Given the description of an element on the screen output the (x, y) to click on. 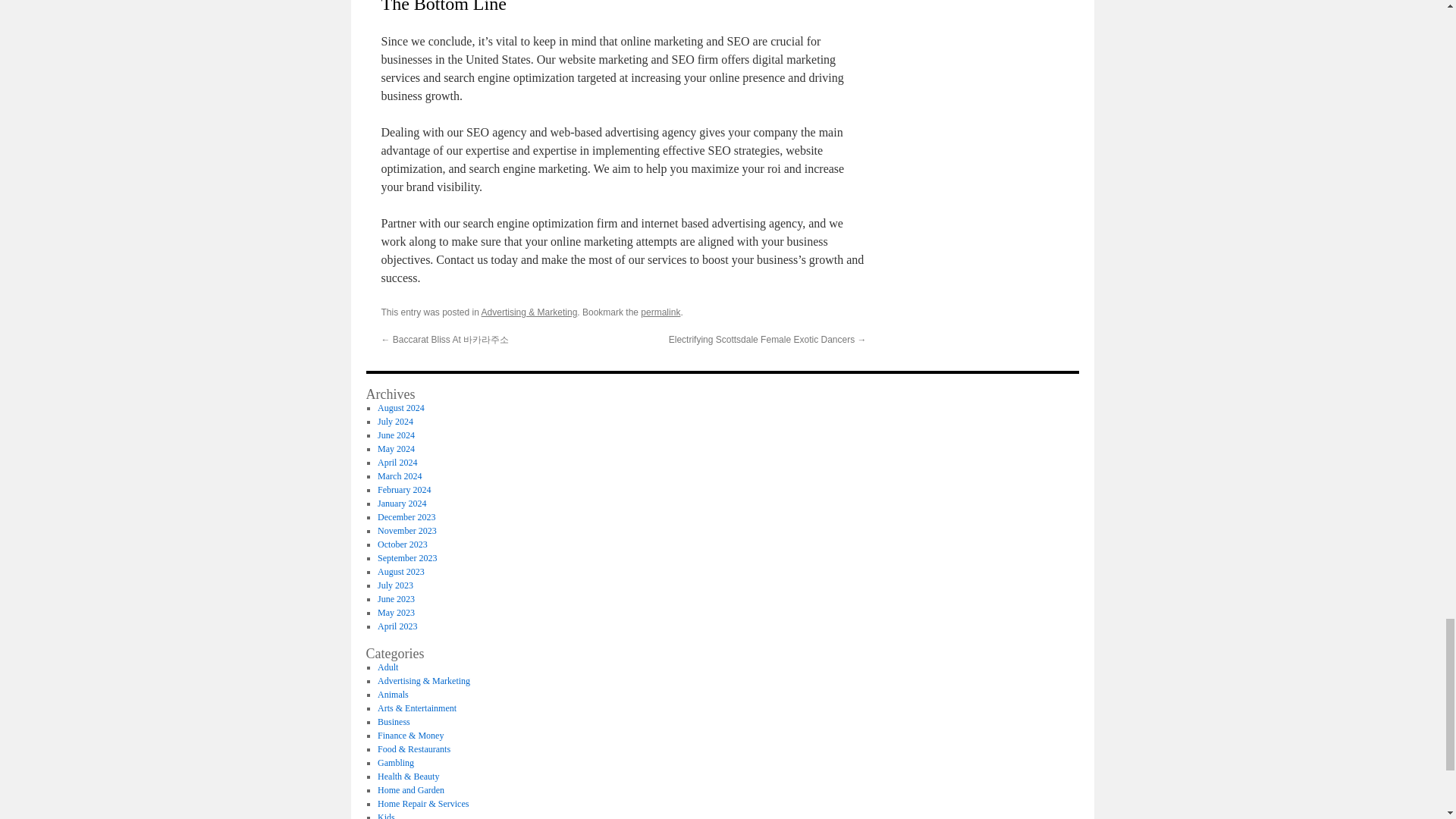
June 2024 (395, 434)
May 2023 (395, 612)
January 2024 (401, 502)
permalink (659, 312)
September 2023 (406, 557)
August 2024 (401, 407)
June 2023 (395, 598)
February 2024 (403, 489)
August 2023 (401, 571)
July 2024 (395, 421)
October 2023 (402, 543)
May 2024 (395, 448)
December 2023 (406, 516)
March 2024 (399, 475)
